Given the description of an element on the screen output the (x, y) to click on. 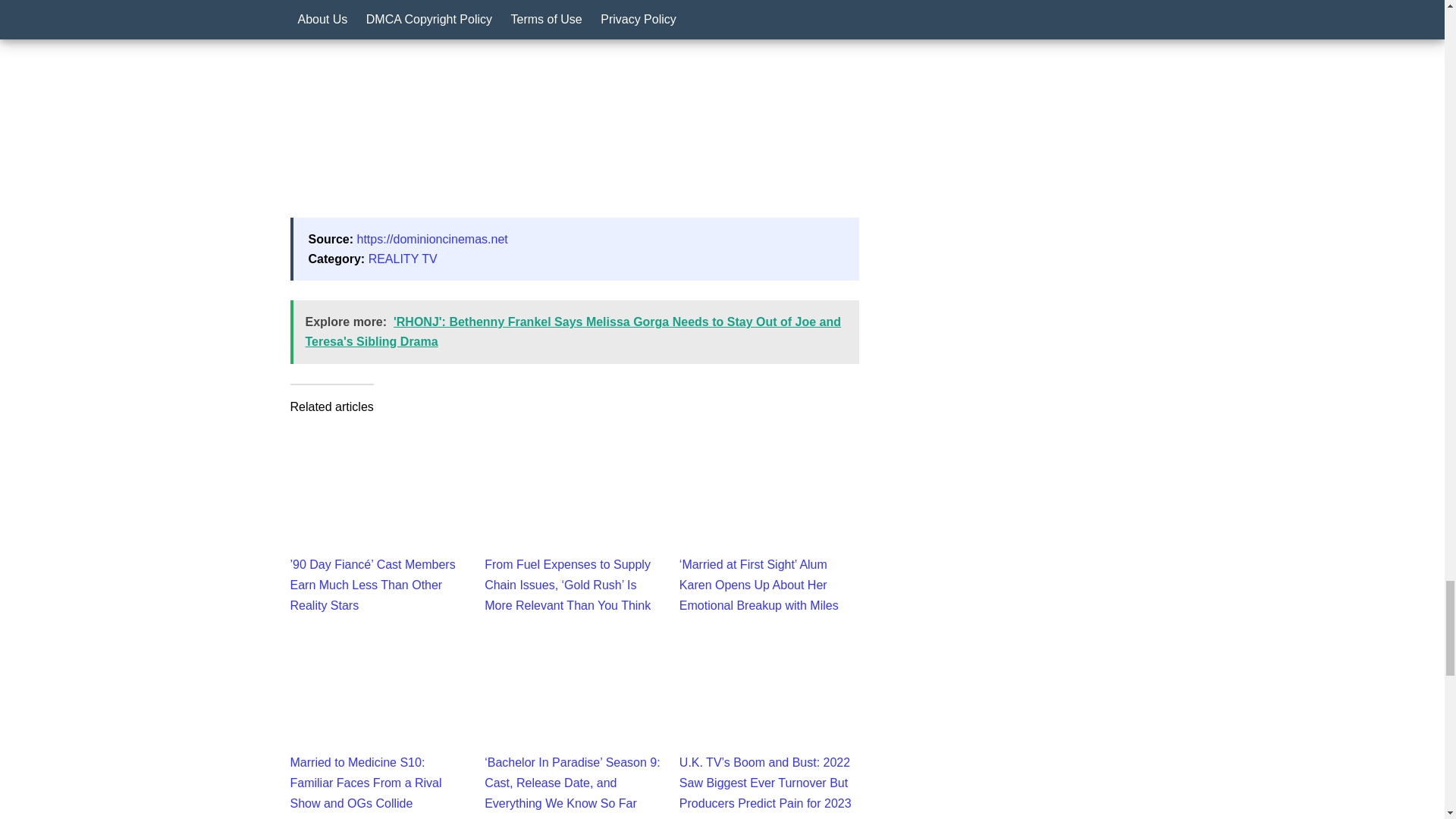
REALITY TV (403, 258)
